Given the description of an element on the screen output the (x, y) to click on. 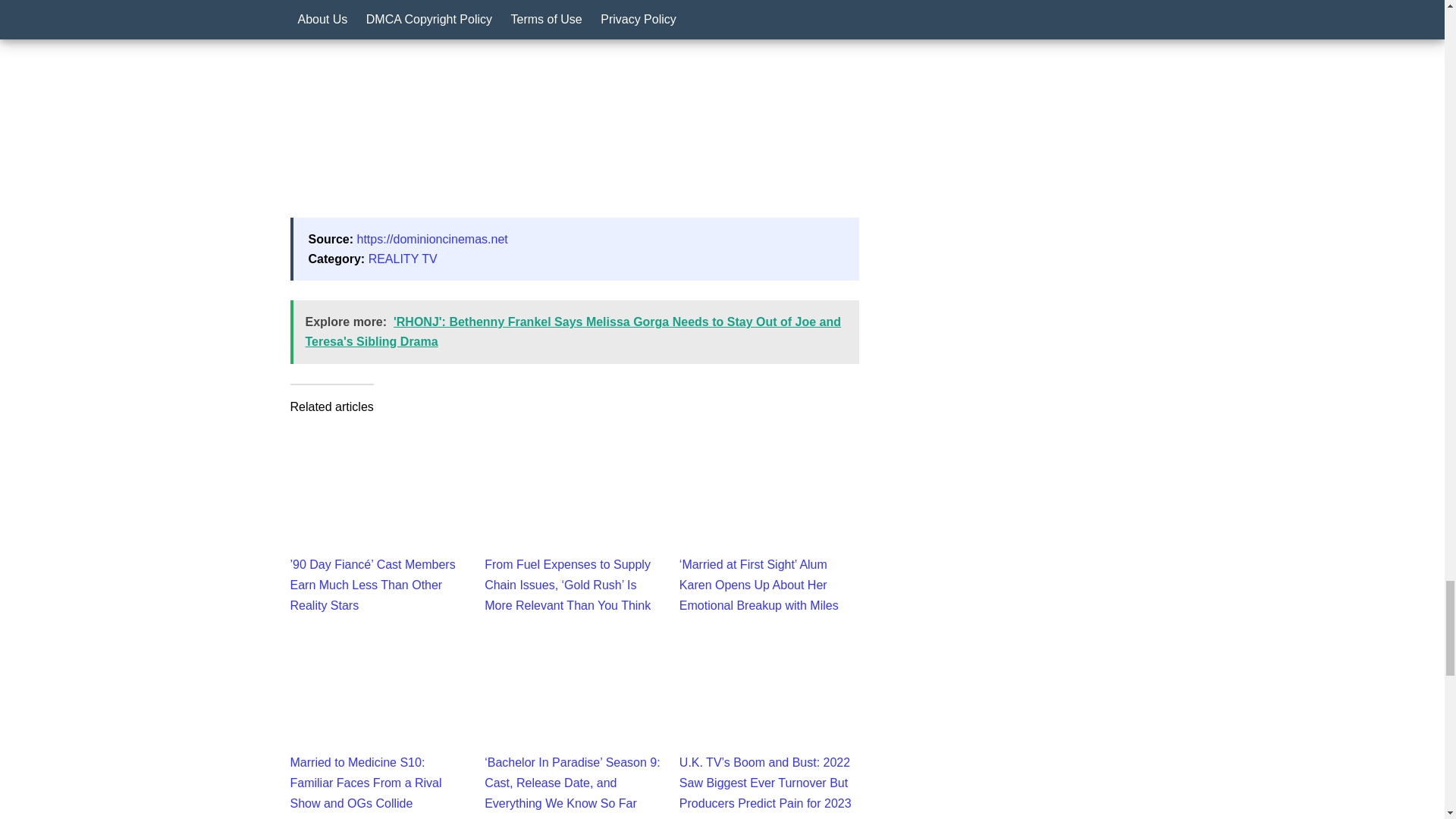
REALITY TV (403, 258)
